Given the description of an element on the screen output the (x, y) to click on. 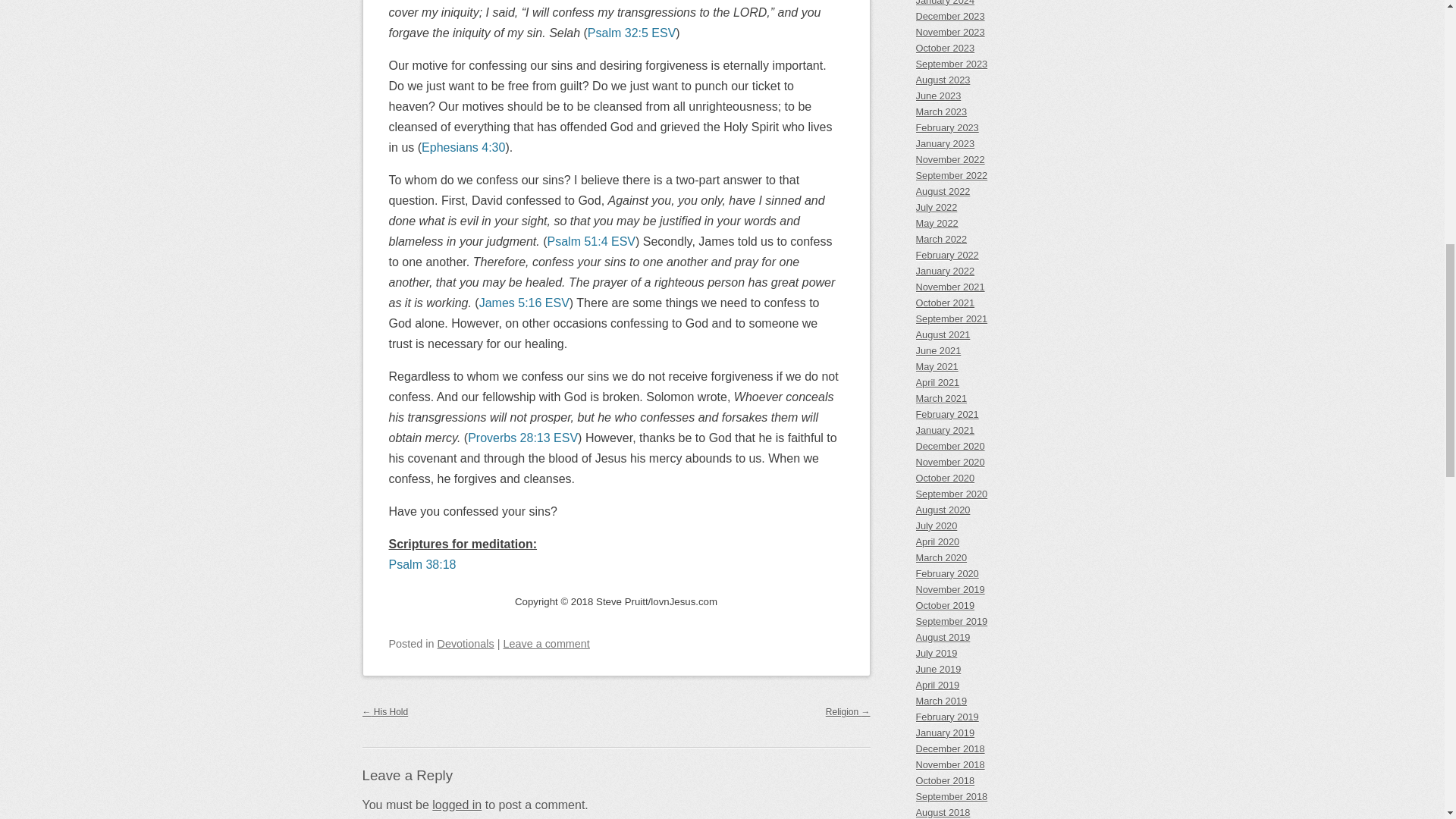
Devotionals (466, 644)
Psalm 38:18 (421, 563)
Leave a comment (545, 644)
Proverbs 28:13 ESV (522, 437)
Psalm 51:4 ESV (591, 241)
James 5:16 ESV (524, 302)
Ephesians 4:30 (463, 146)
Psalm 32:5 ESV (632, 32)
logged in (456, 804)
